Given the description of an element on the screen output the (x, y) to click on. 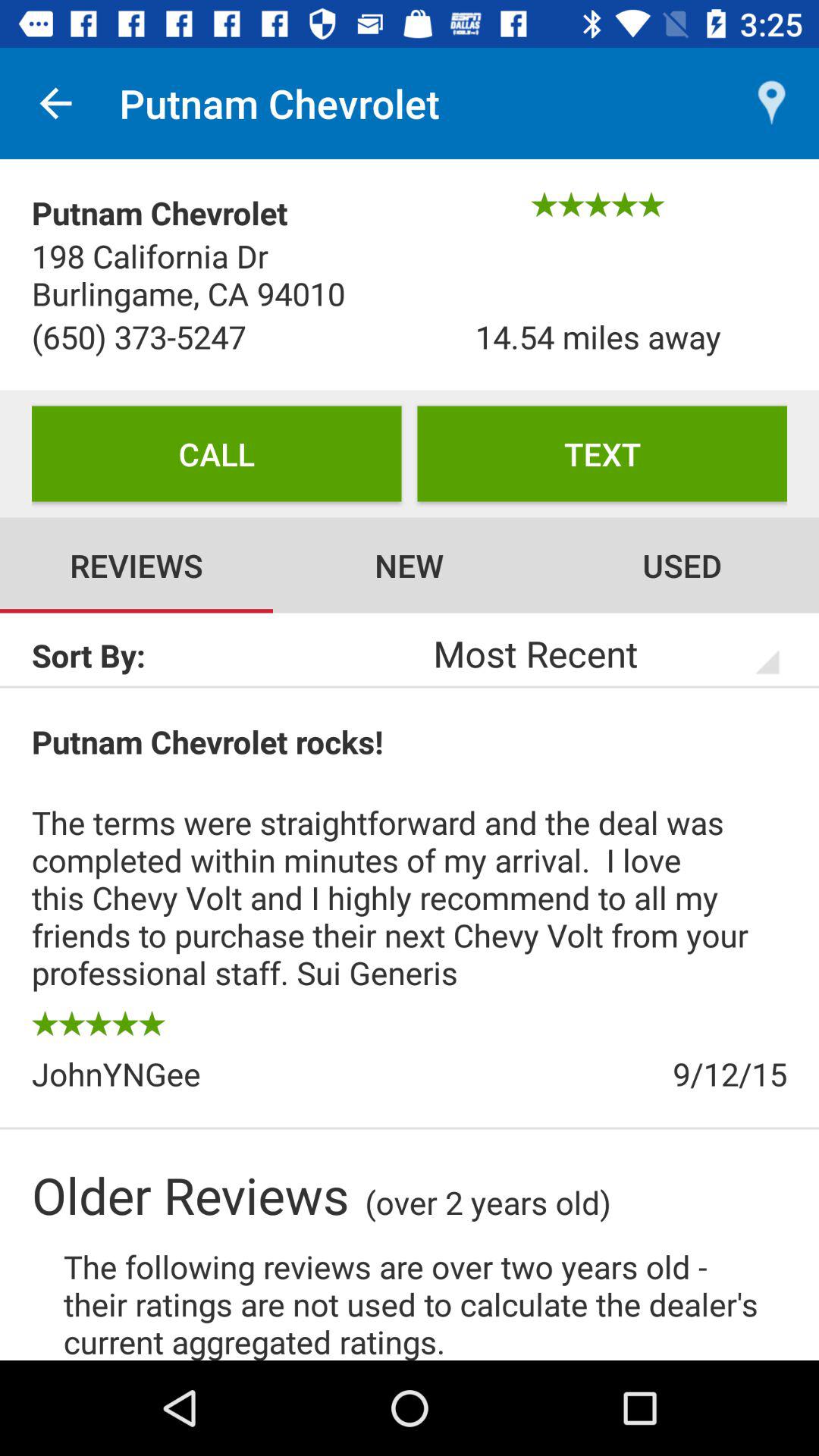
turn on the icon below new icon (586, 653)
